Given the description of an element on the screen output the (x, y) to click on. 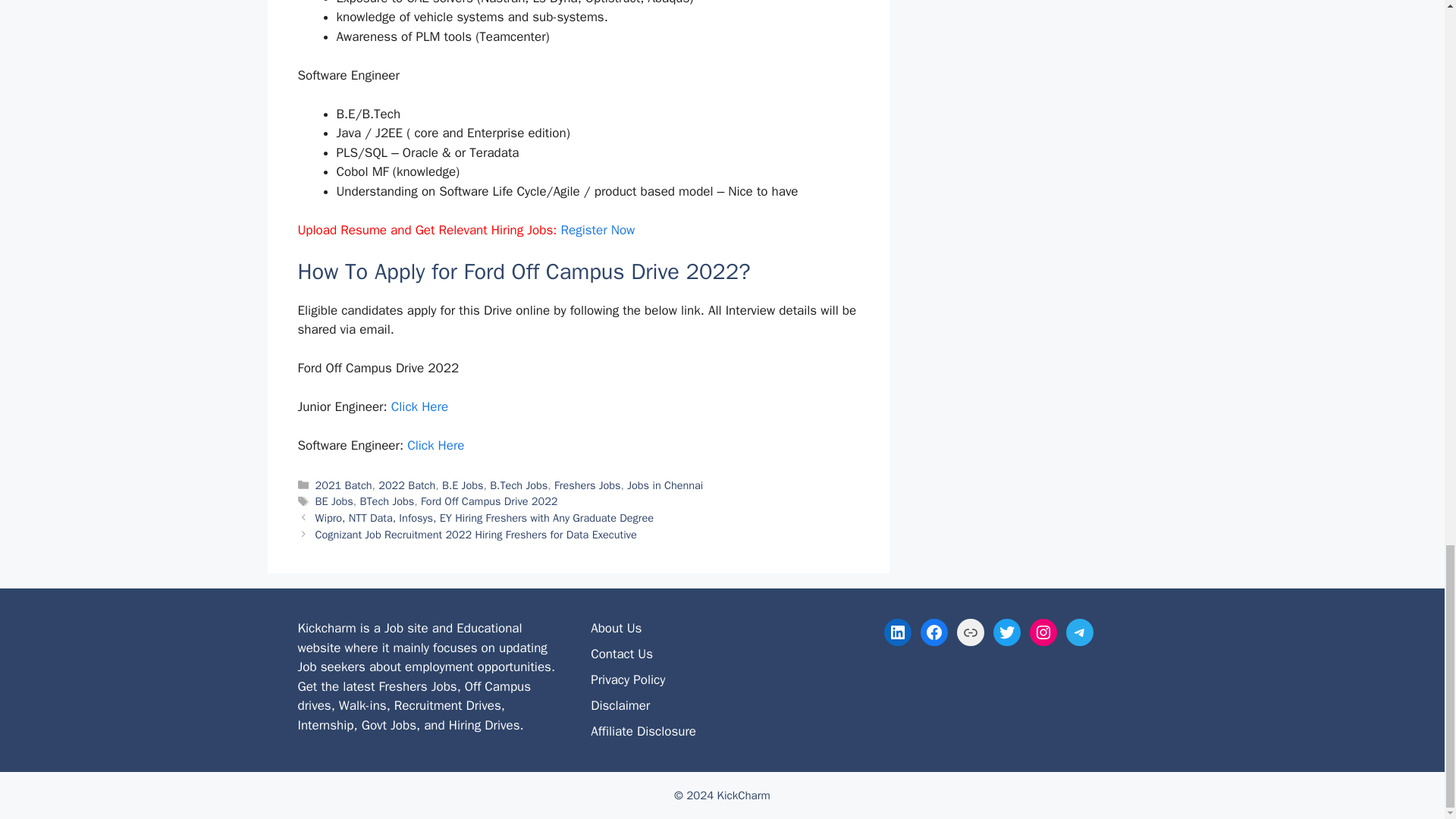
Ford Off Campus Drive 2022 (488, 500)
2021 Batch (343, 485)
Click Here (435, 445)
Register Now (597, 229)
BE Jobs (334, 500)
Click Here (419, 406)
2022 Batch (406, 485)
Jobs in Chennai (665, 485)
BTech Jobs (386, 500)
